Given the description of an element on the screen output the (x, y) to click on. 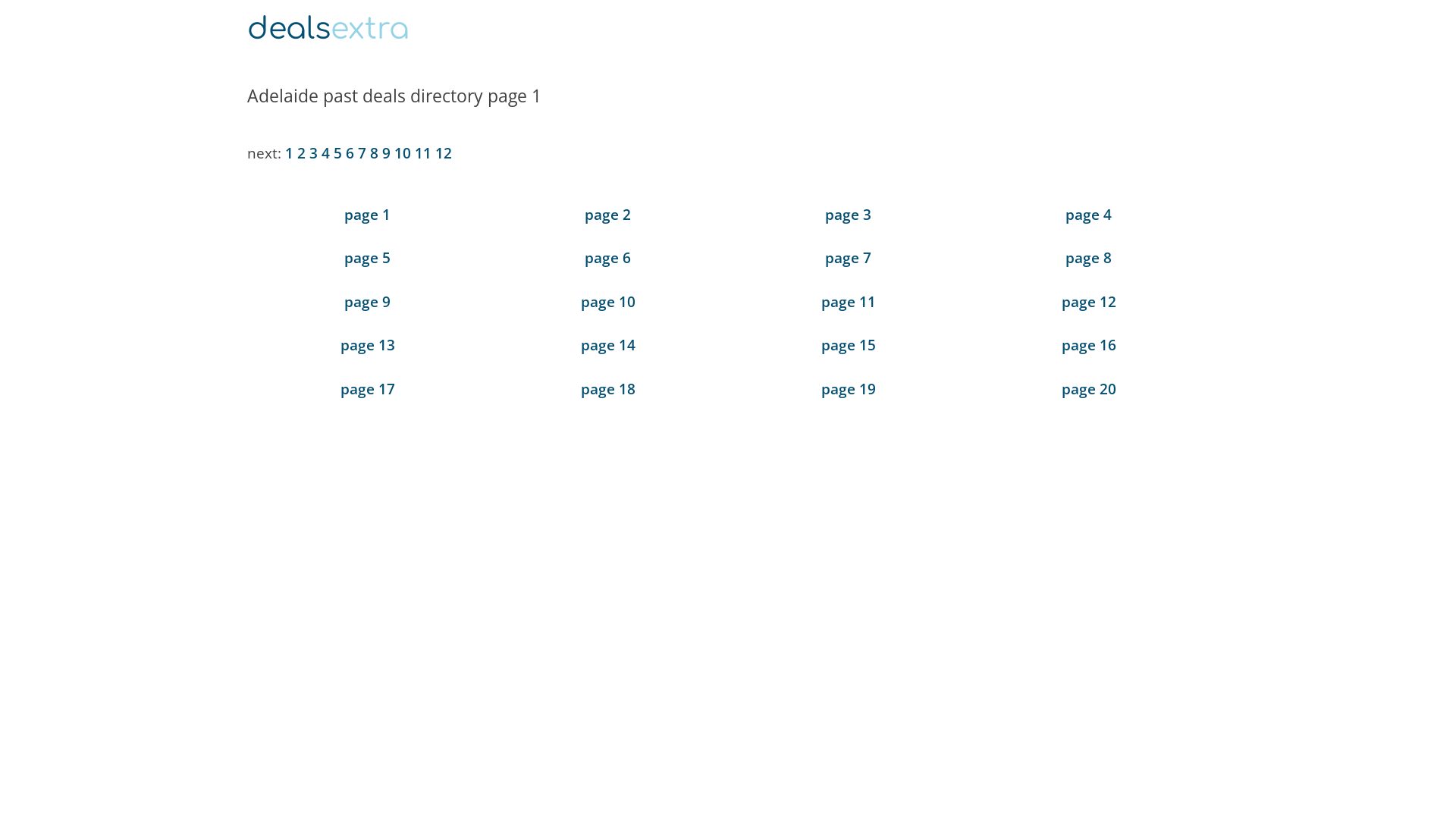
page 20 Element type: text (1088, 389)
page 1 Element type: text (367, 214)
page 10 Element type: text (607, 301)
page 2 Element type: text (607, 214)
page 3 Element type: text (848, 214)
page 17 Element type: text (367, 389)
page 5 Element type: text (367, 257)
8 Element type: text (374, 152)
9 Element type: text (386, 152)
page 11 Element type: text (848, 301)
2 Element type: text (301, 152)
page 18 Element type: text (607, 389)
5 Element type: text (337, 152)
1 Element type: text (289, 152)
6 Element type: text (349, 152)
page 13 Element type: text (367, 345)
dealsextra Element type: text (328, 28)
page 19 Element type: text (848, 389)
page 14 Element type: text (607, 345)
7 Element type: text (361, 152)
page 7 Element type: text (848, 257)
11 Element type: text (422, 152)
12 Element type: text (443, 152)
4 Element type: text (325, 152)
page 6 Element type: text (607, 257)
page 8 Element type: text (1088, 257)
page 4 Element type: text (1088, 214)
3 Element type: text (313, 152)
page 9 Element type: text (367, 301)
page 16 Element type: text (1088, 345)
10 Element type: text (402, 152)
page 12 Element type: text (1088, 301)
page 15 Element type: text (848, 345)
